Given the description of an element on the screen output the (x, y) to click on. 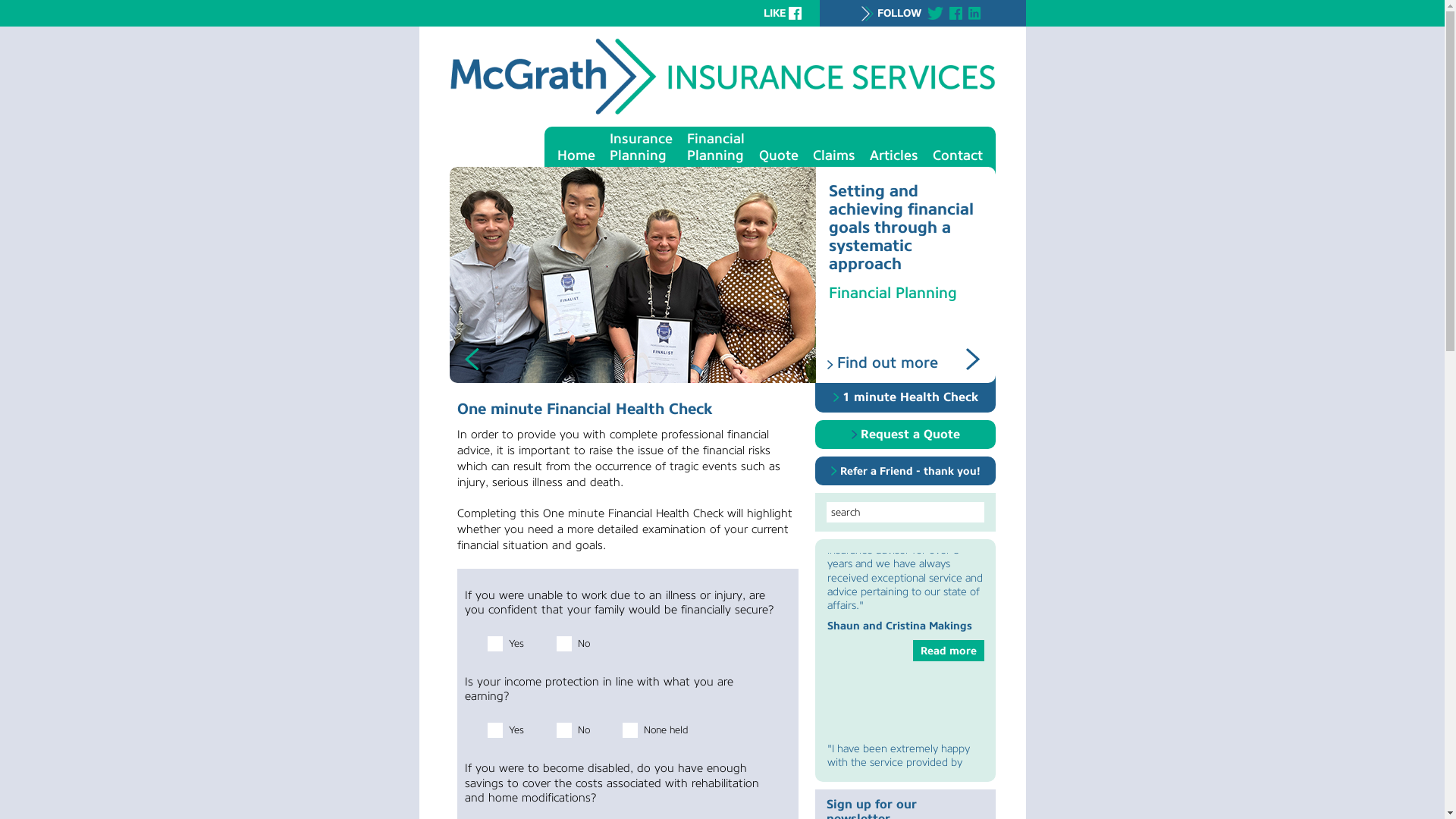
Help spread the word... Element type: hover (794, 11)
Quote Element type: text (778, 155)
Follow Rowena on Facebook Element type: hover (955, 11)
Financial Planning Element type: text (903, 292)
1 minute Health Check Element type: text (905, 396)
Refer a Friend - thank you! Element type: text (905, 470)
Contact Element type: text (956, 155)
Financial
Planning Element type: text (714, 146)
Follow Rowena on Twitter Element type: hover (935, 11)
1. Goal Setting Element type: text (809, 177)
Home Element type: text (576, 155)
Claims Element type: text (832, 155)
Life Insurance Element type: text (732, 177)
Insurance
Planning Element type: text (640, 146)
Articles Element type: text (893, 155)
Follow Rowena on LinkedIn Element type: hover (974, 11)
Request a Quote Element type: text (905, 434)
mcgrathinsuranceservices.com.au Element type: hover (721, 110)
